Given the description of an element on the screen output the (x, y) to click on. 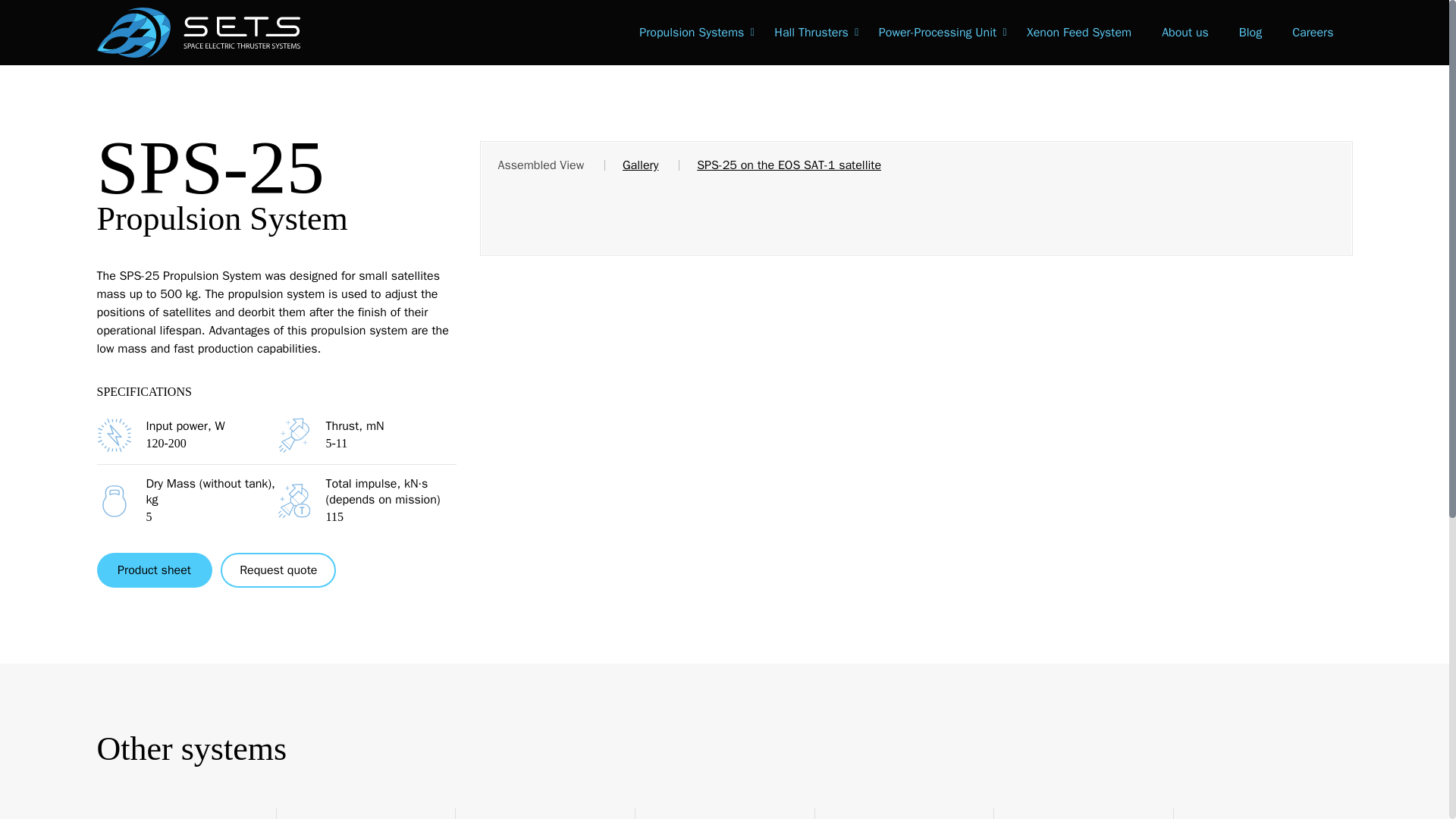
Product sheet (154, 570)
Hall Thrusters (814, 32)
Assembled View (540, 165)
Request quote (278, 570)
Gallery (640, 165)
SPS-25 on the EOS SAT-1 satellite (788, 165)
Xenon Feed System (1082, 32)
Power-Processing Unit (940, 32)
About us (1188, 32)
Careers (1316, 32)
